Given the description of an element on the screen output the (x, y) to click on. 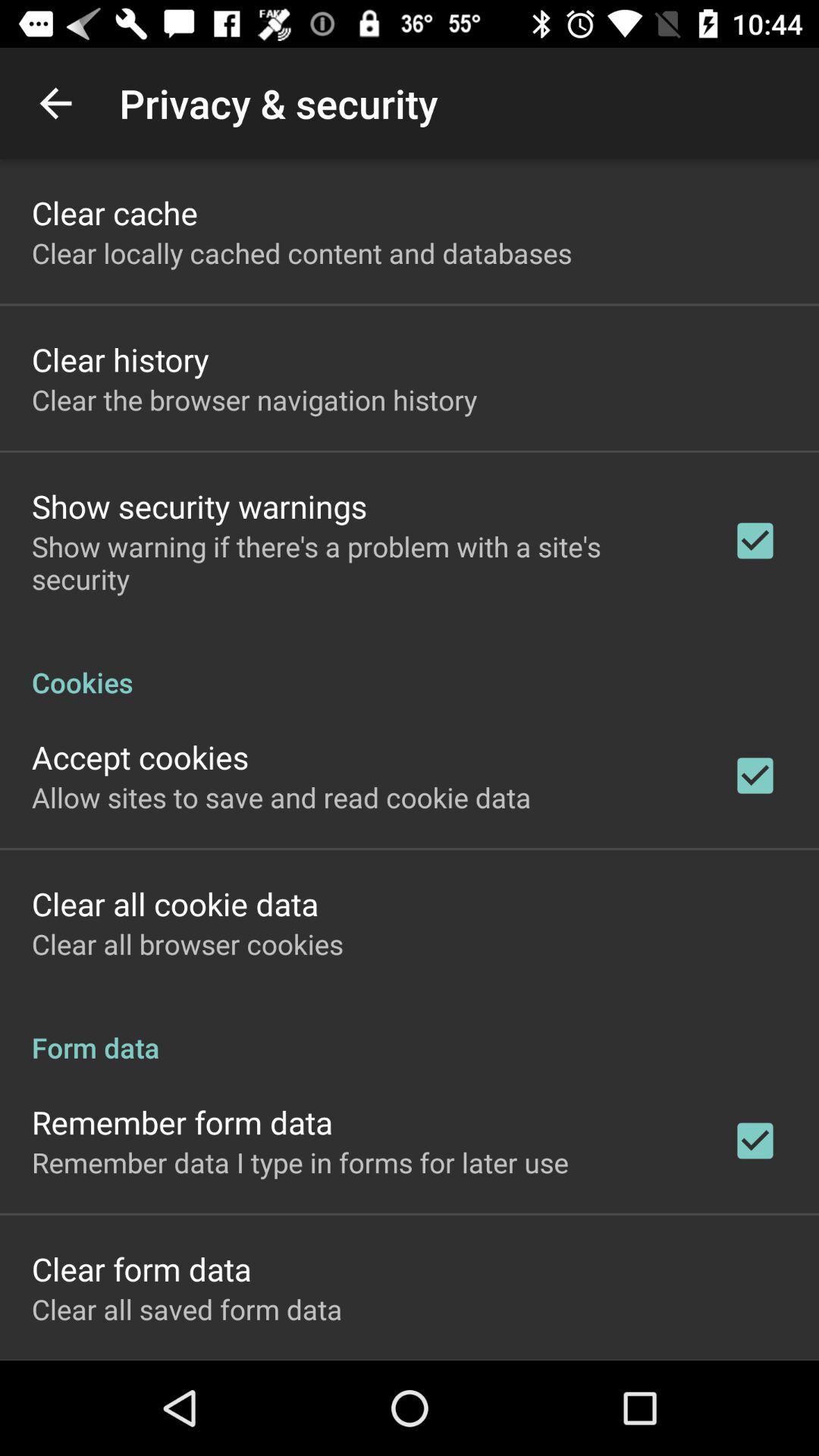
turn off the app next to the privacy & security item (55, 103)
